Given the description of an element on the screen output the (x, y) to click on. 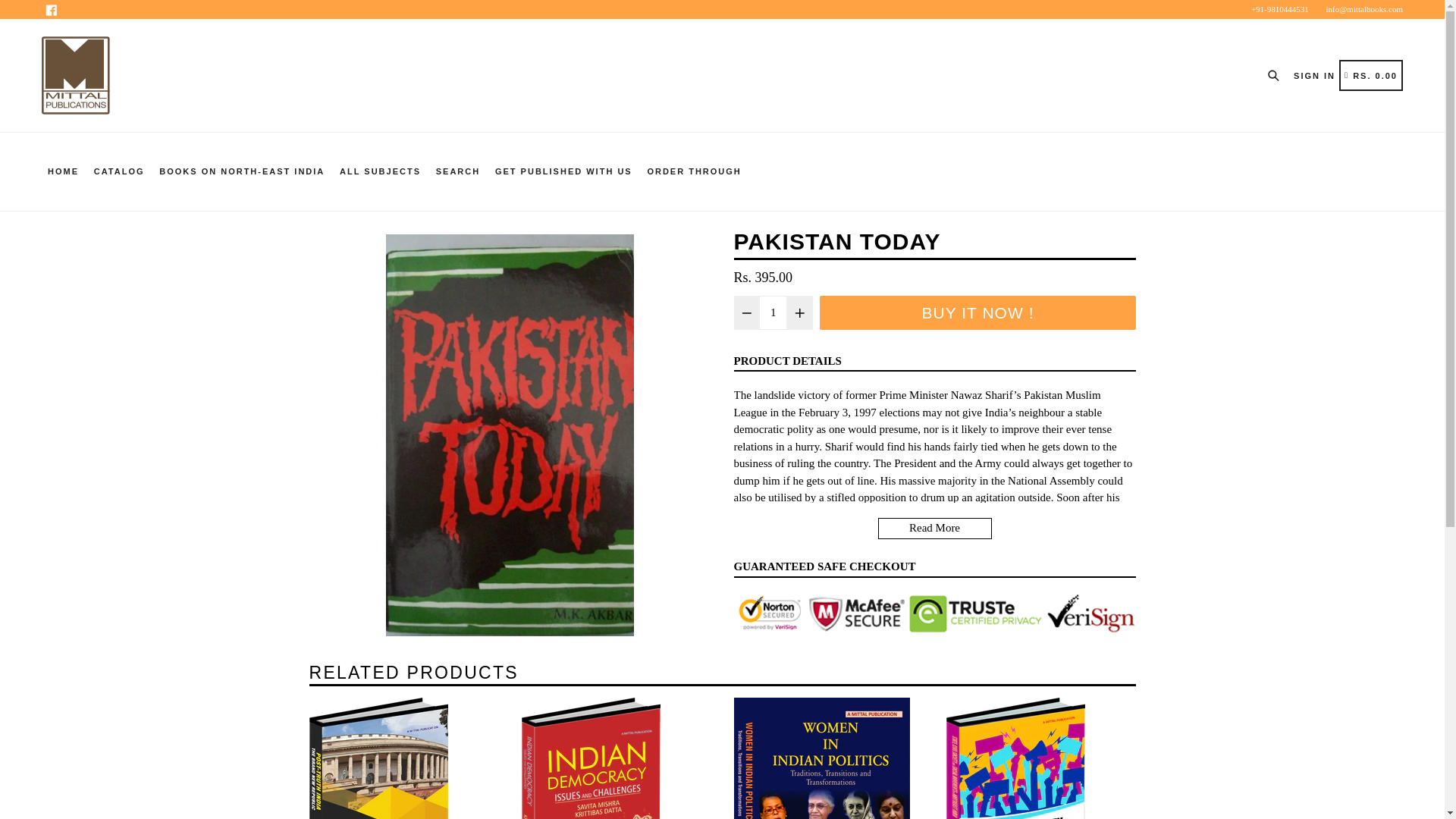
SIGN IN (1371, 74)
Facebook (1314, 74)
Mittal Publications on Facebook (51, 9)
ORDER THROUGH (51, 9)
PRODUCT DETAILS (693, 171)
BUY IT NOW ! (787, 361)
BOOKS ON NORTH-EAST INDIA (976, 312)
Read More (241, 171)
ALL SUBJECTS (934, 527)
Search (379, 171)
GET PUBLISHED WITH US (1276, 74)
